Given the description of an element on the screen output the (x, y) to click on. 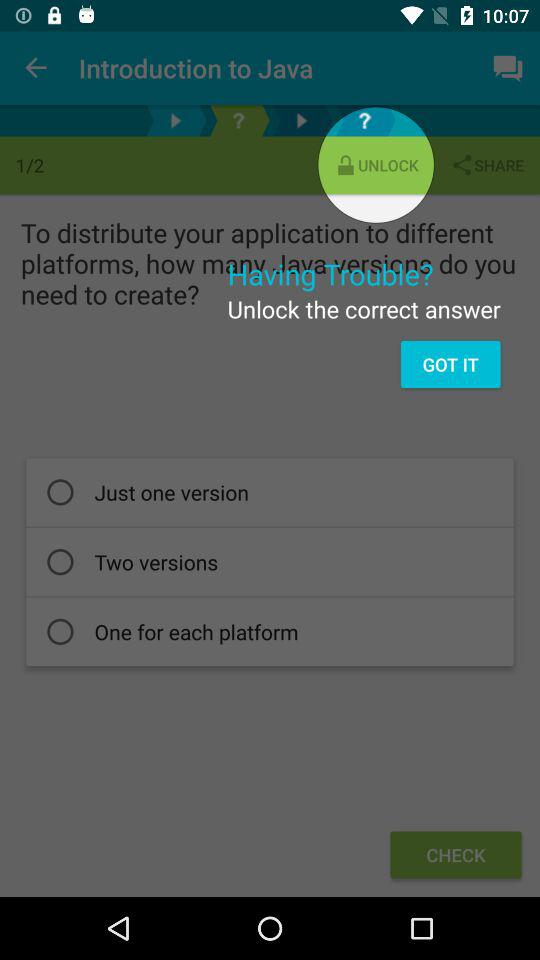
go to help (238, 120)
